Given the description of an element on the screen output the (x, y) to click on. 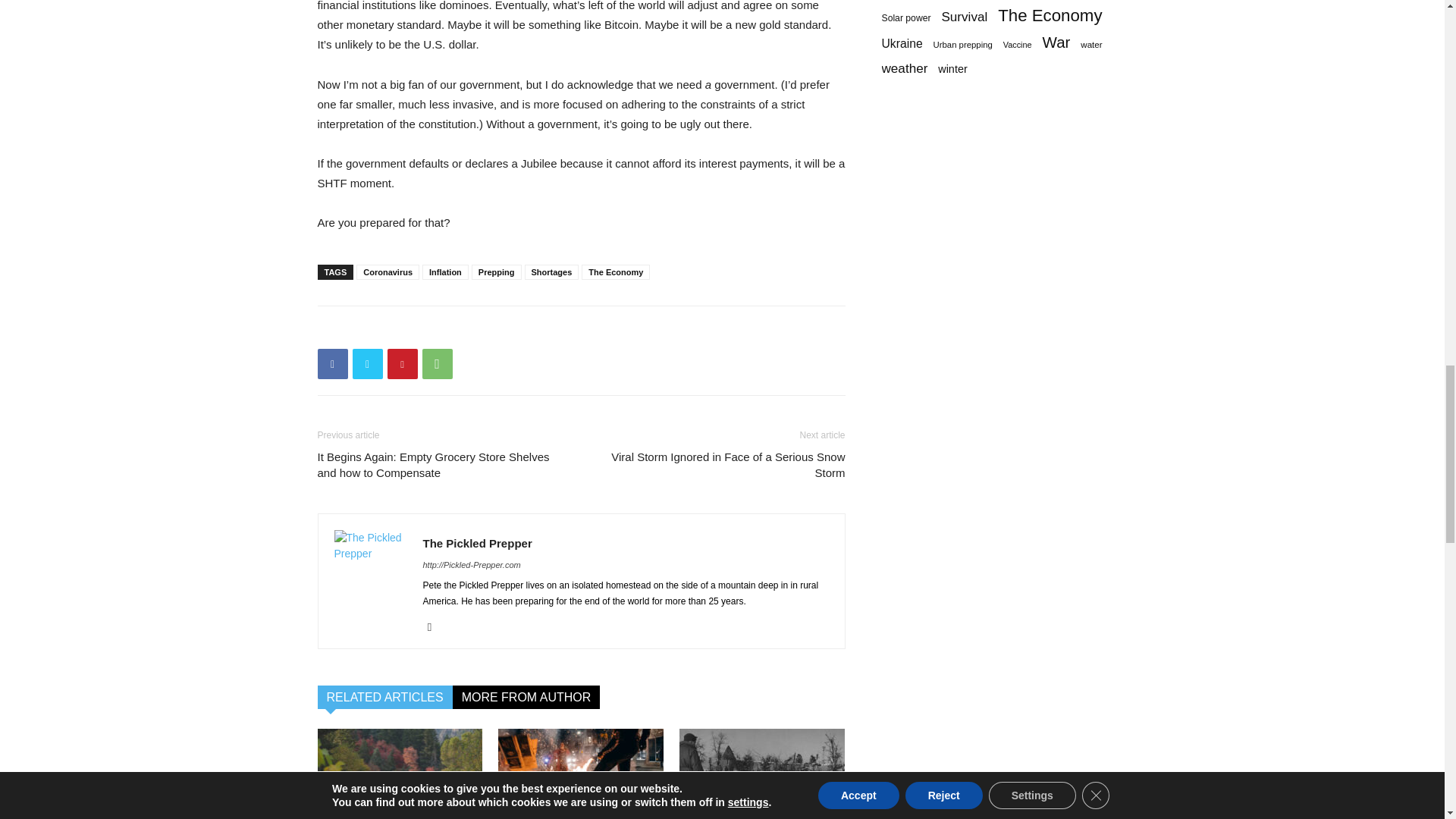
Twitter (366, 363)
Facebook (332, 363)
Pinterest (401, 363)
bottomFacebookLike (430, 330)
